Given the description of an element on the screen output the (x, y) to click on. 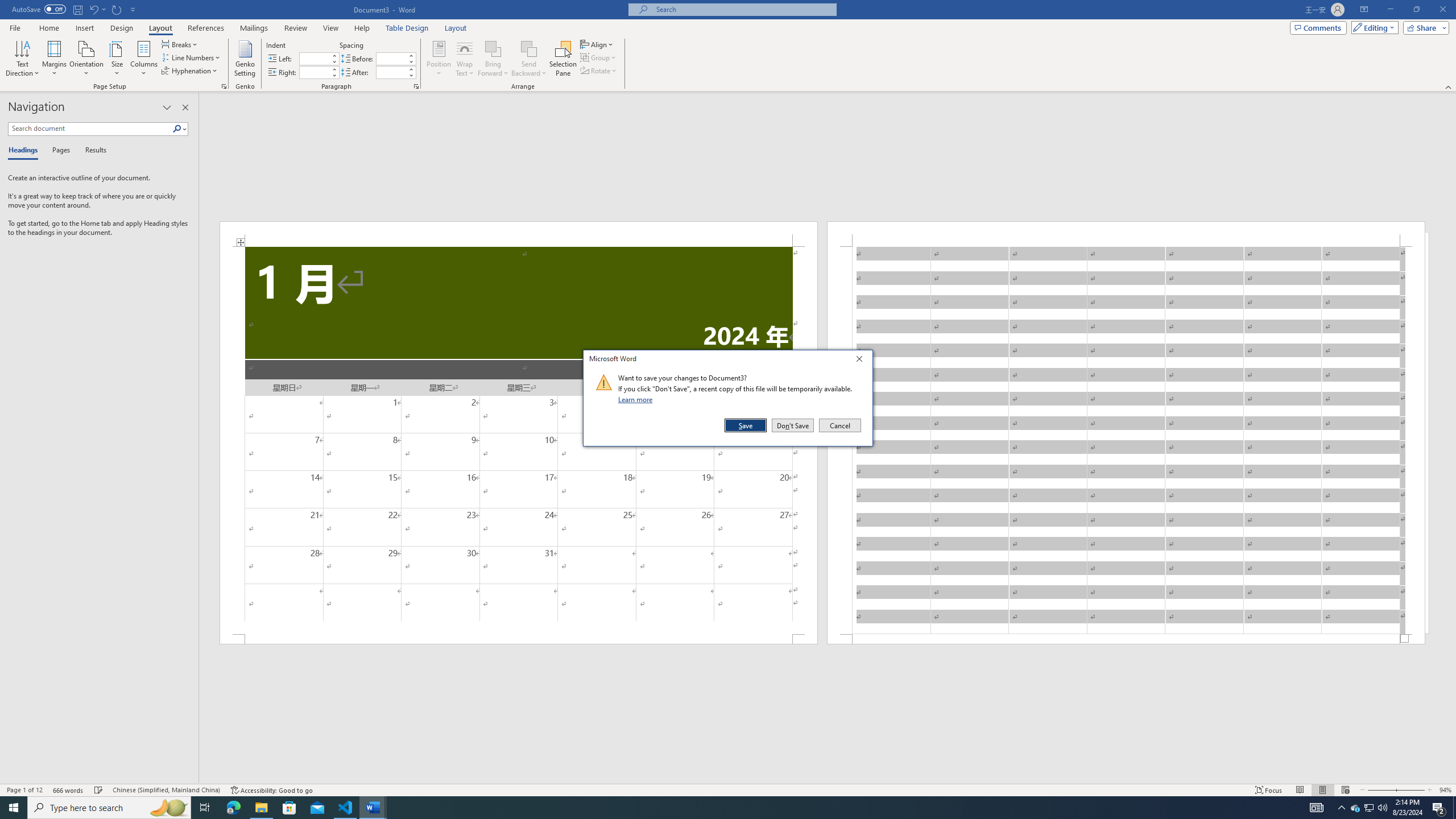
Less (411, 75)
Page Number Page 1 of 12 (24, 790)
Running applications (717, 807)
Orientation (86, 58)
Repeat Insert Row Below (117, 9)
Learn more (636, 399)
Genko Setting... (244, 58)
Spacing Before (391, 58)
